Given the description of an element on the screen output the (x, y) to click on. 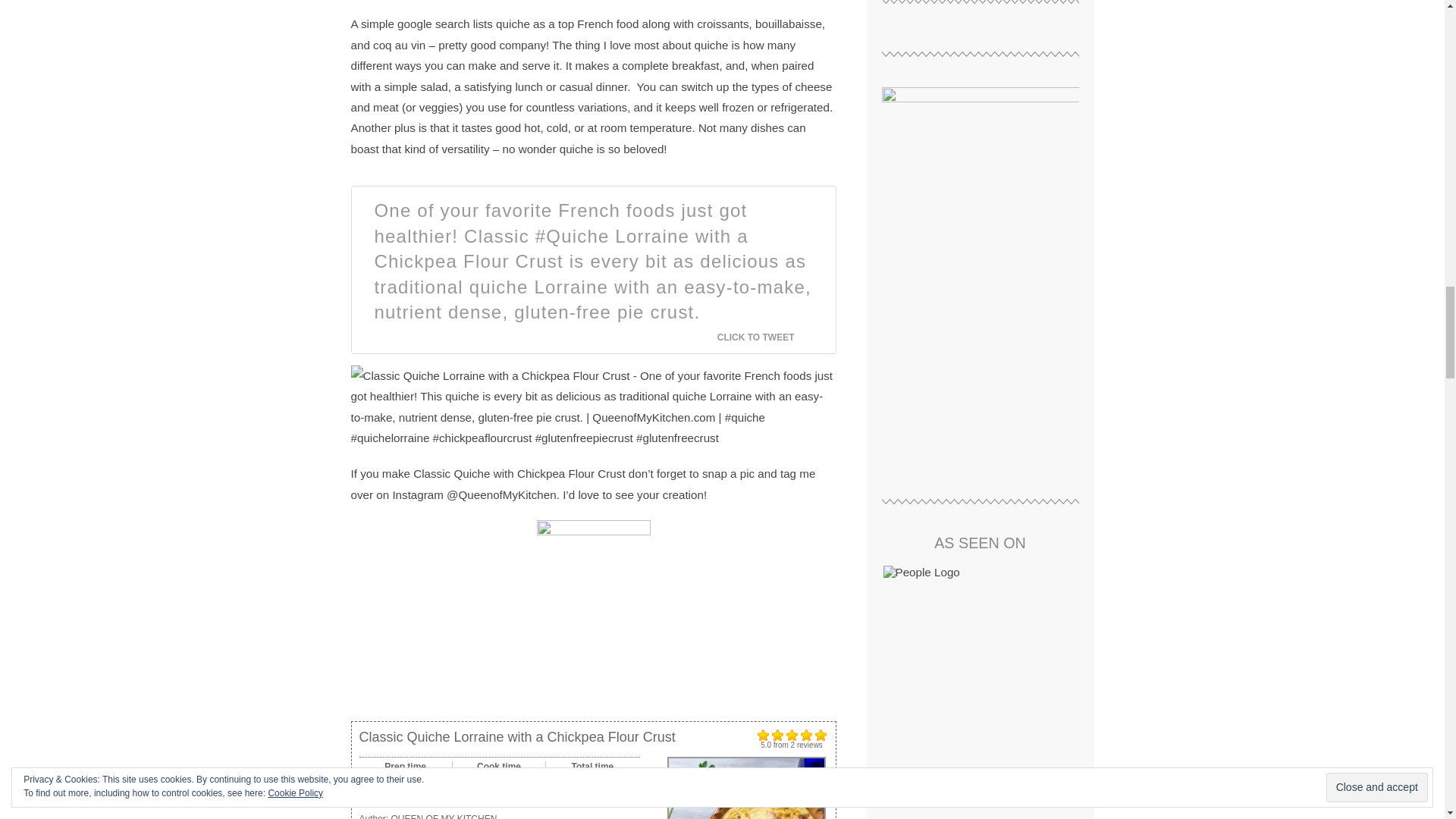
CLICK TO TWEET (764, 337)
